Given the description of an element on the screen output the (x, y) to click on. 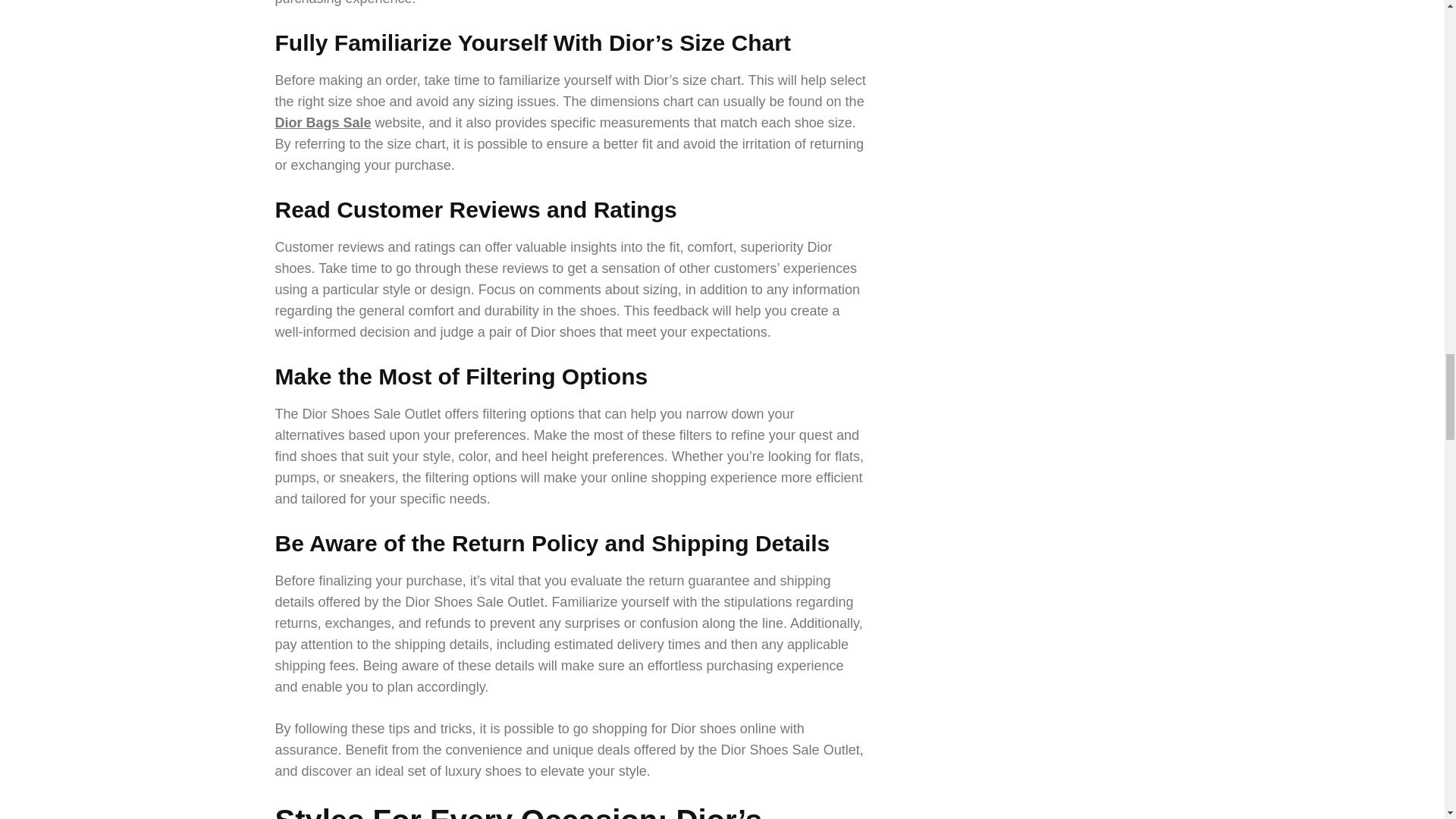
Dior Bags Sale (323, 122)
